Given the description of an element on the screen output the (x, y) to click on. 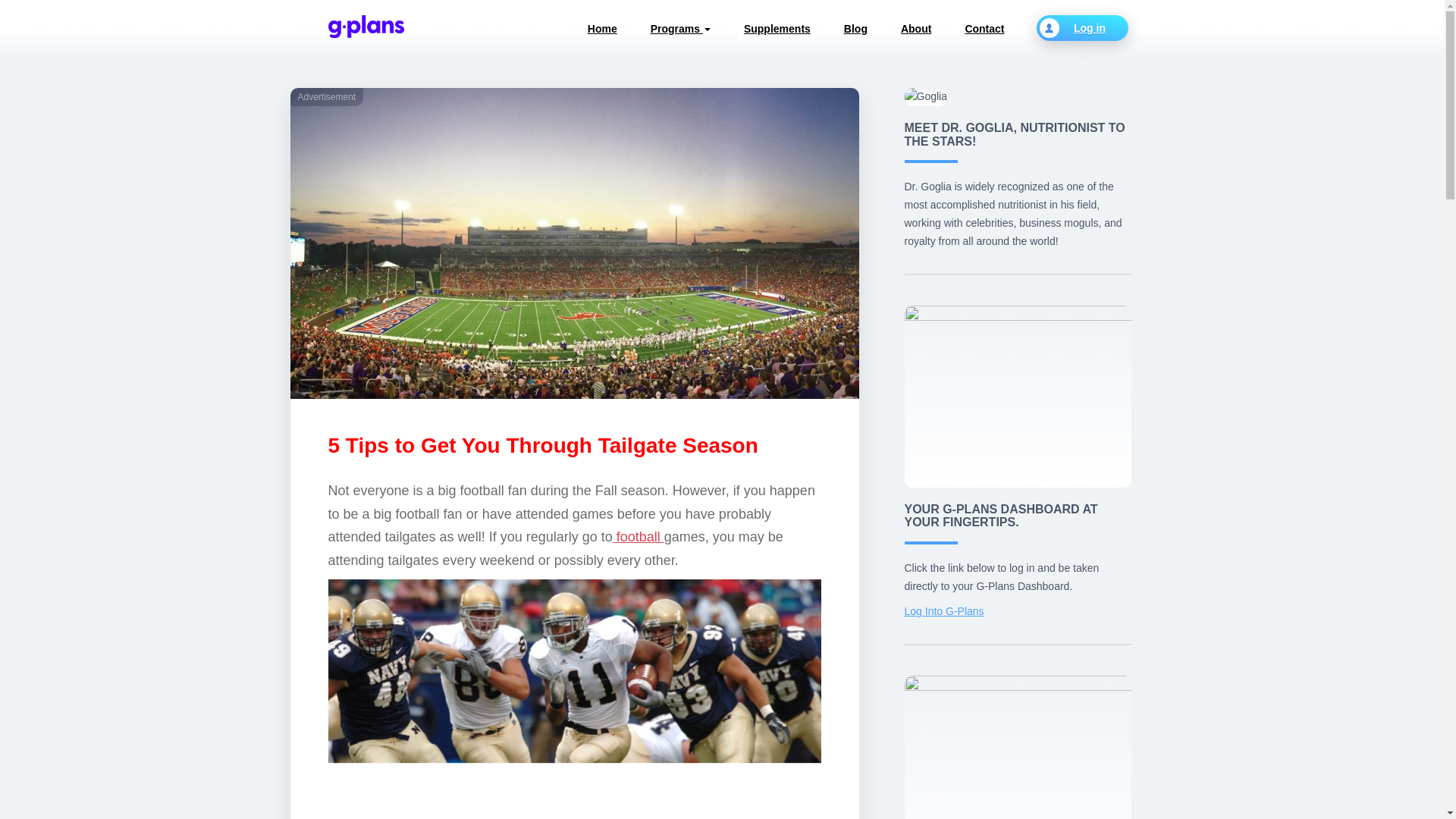
About (915, 28)
Log in (1080, 27)
football (637, 536)
Blog (855, 28)
Log in (1080, 27)
Contact (983, 28)
About (915, 28)
Supplements (776, 28)
Programs (679, 28)
Programs (679, 28)
